Given the description of an element on the screen output the (x, y) to click on. 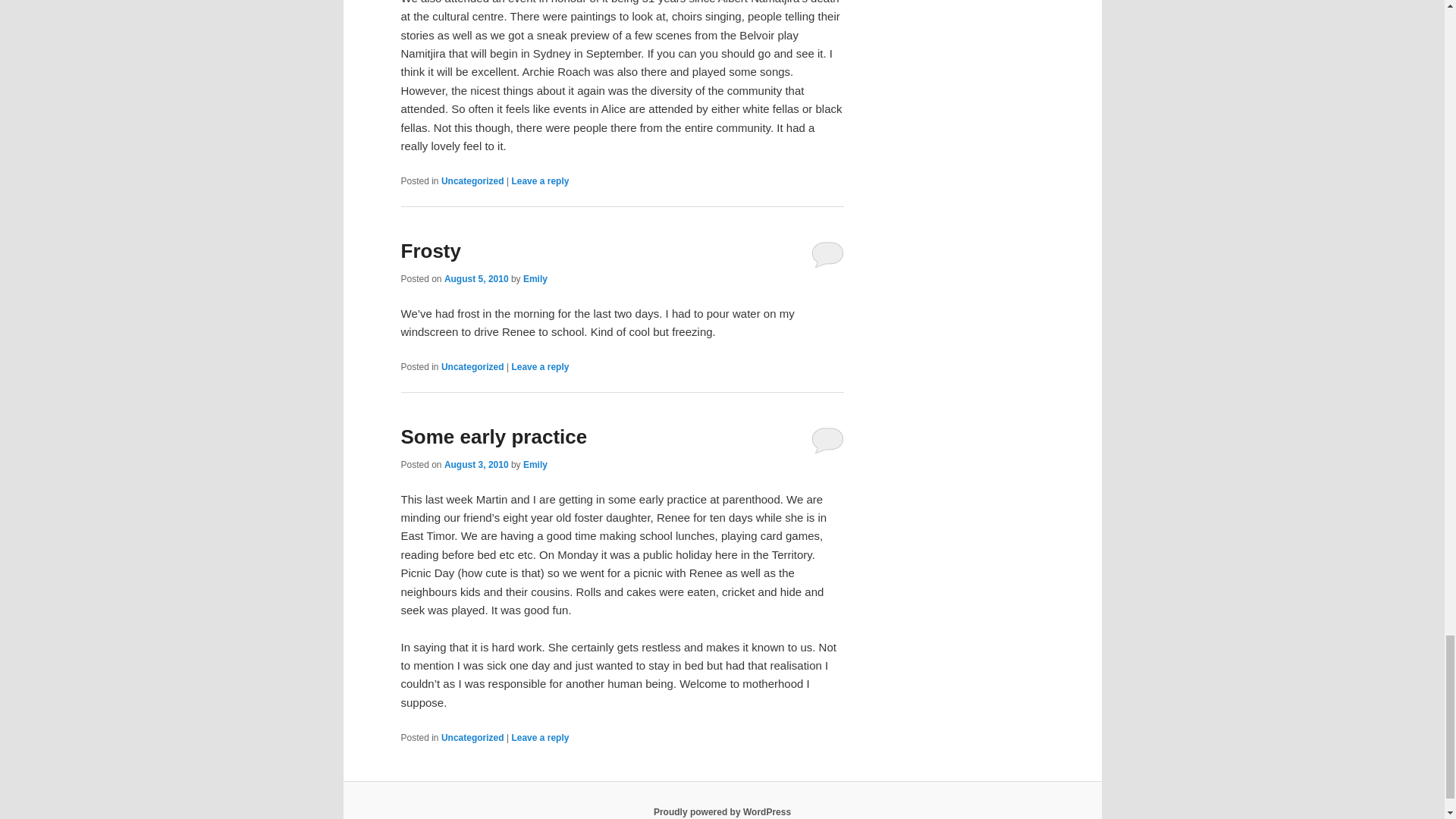
9:29 pm (476, 464)
View all posts by Emily (534, 278)
2:46 pm (476, 278)
